Given the description of an element on the screen output the (x, y) to click on. 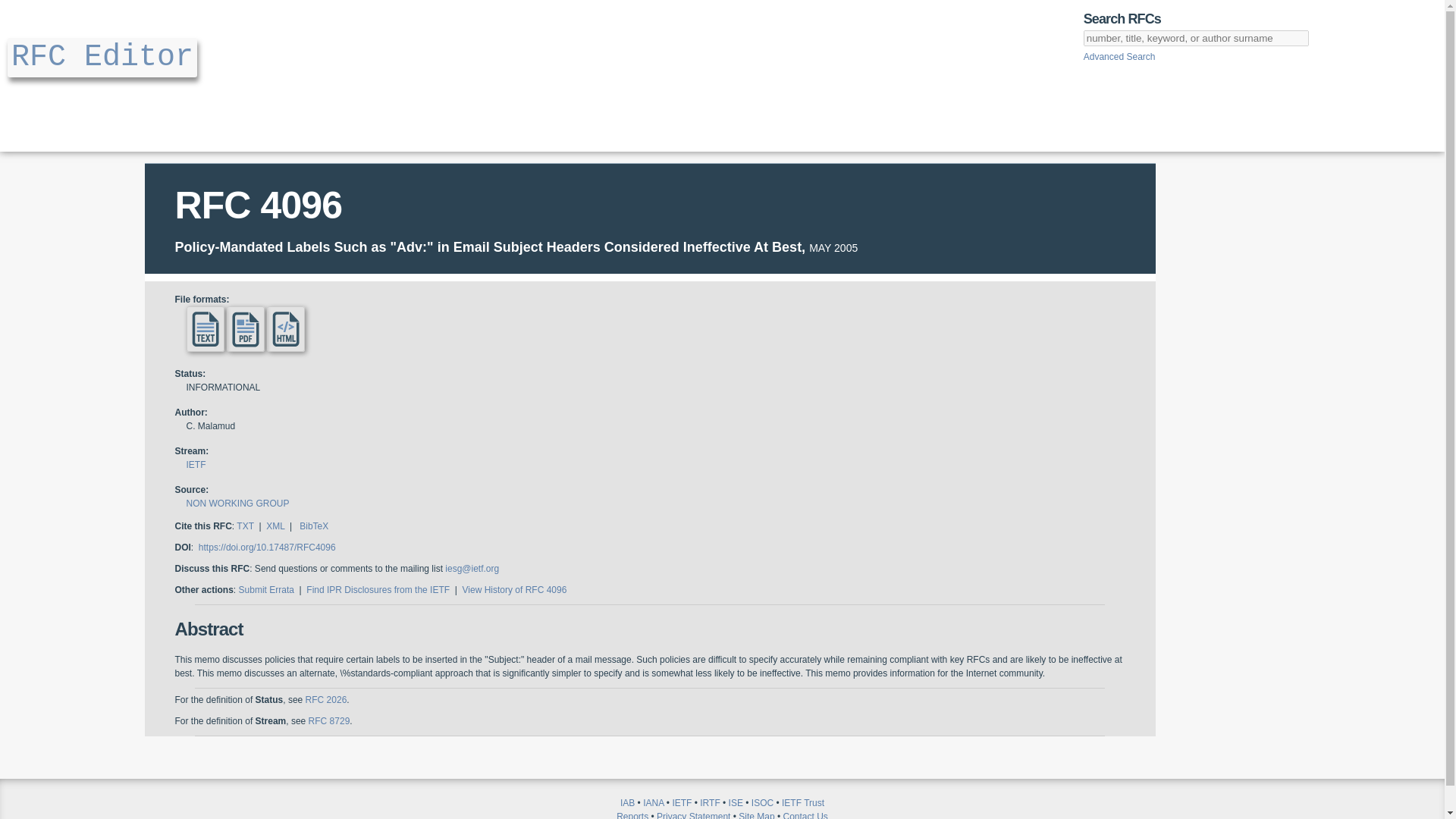
NON WORKING GROUP (237, 502)
IANA (653, 802)
RFC 4096 (258, 205)
XML (274, 525)
IETF (681, 802)
IRTF (709, 802)
Contact Us (805, 815)
ISOC (762, 802)
RFC 2026 (326, 699)
ISE (735, 802)
